Given the description of an element on the screen output the (x, y) to click on. 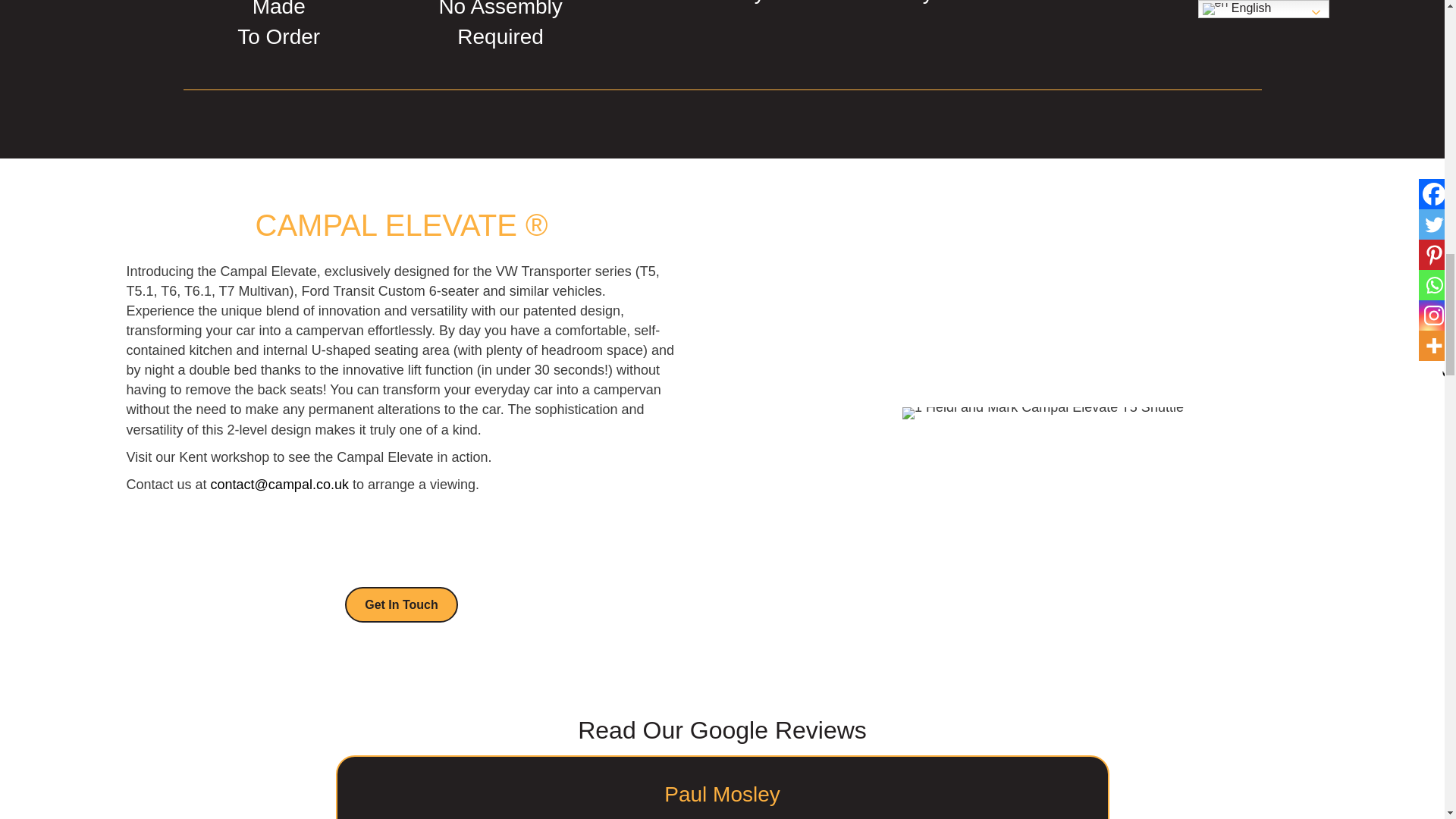
1 Heidi and Mark Campal Elevate T5 Shuttle (1042, 368)
Get In Touch (401, 560)
